Given the description of an element on the screen output the (x, y) to click on. 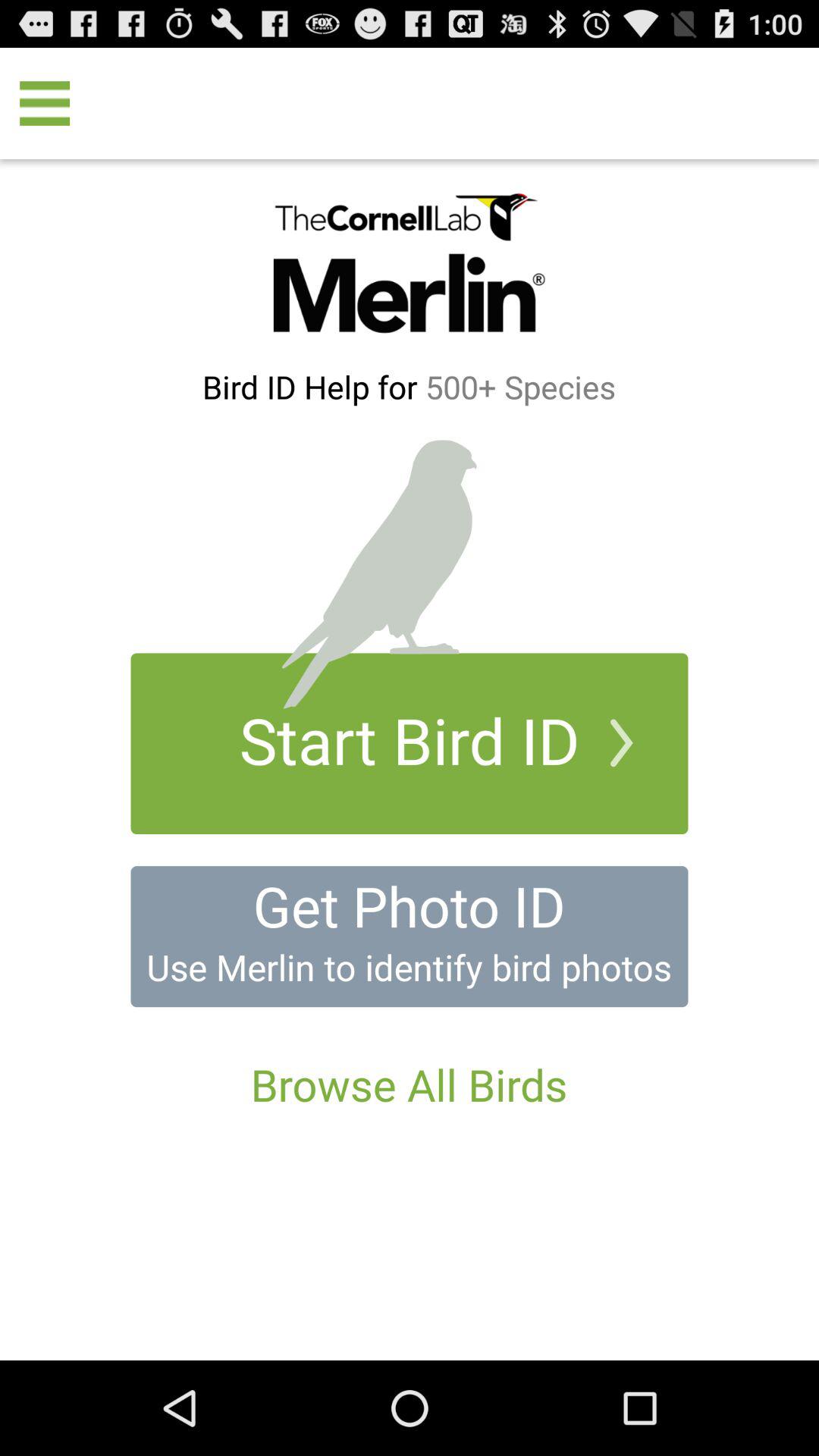
click use merlin to item (408, 966)
